Given the description of an element on the screen output the (x, y) to click on. 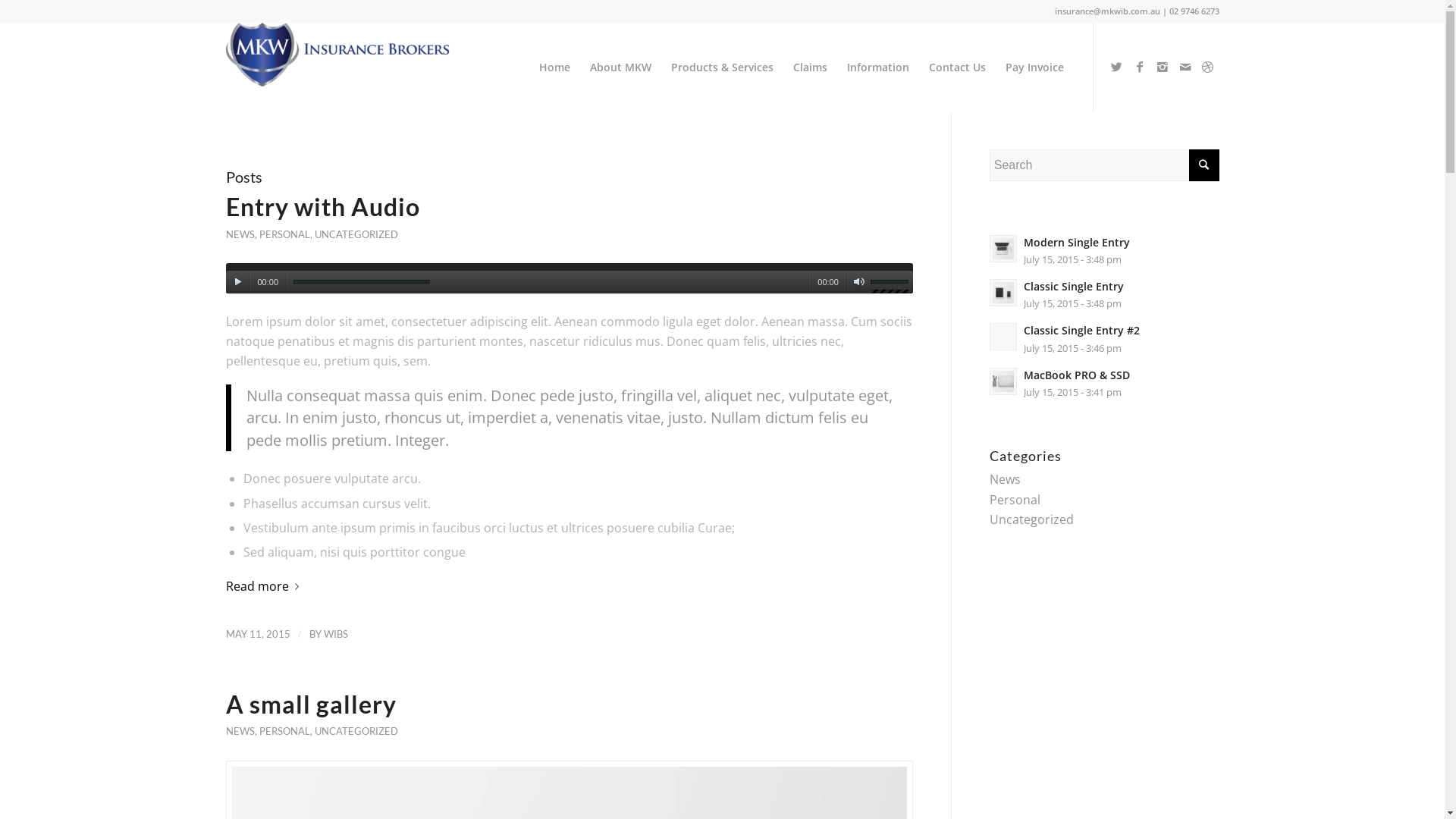
A small gallery Element type: text (310, 703)
Uncategorized Element type: text (1031, 519)
Information Element type: text (878, 67)
NEWS Element type: text (239, 234)
About MKW Element type: text (619, 67)
Instagram Element type: hover (1162, 66)
NEWS Element type: text (239, 730)
Facebook Element type: hover (1139, 66)
Entry with Audio Element type: text (322, 206)
Claims Element type: text (809, 67)
PERSONAL Element type: text (284, 234)
UNCATEGORIZED Element type: text (355, 234)
Classic Single Entry
July 15, 2015 - 3:48 pm Element type: text (1104, 294)
Products & Services Element type: text (722, 67)
Mute Element type: hover (858, 282)
Play Element type: hover (237, 282)
Mail Element type: hover (1184, 66)
Personal Element type: text (1014, 499)
MacBook PRO & SSD
July 15, 2015 - 3:41 pm Element type: text (1104, 382)
WIBS Element type: text (335, 633)
PERSONAL Element type: text (284, 730)
Classic Single Entry #2
July 15, 2015 - 3:46 pm Element type: text (1104, 338)
Dribbble Element type: hover (1207, 66)
Modern Single Entry
July 15, 2015 - 3:48 pm Element type: text (1104, 250)
Contact Us Element type: text (957, 67)
Pay Invoice Element type: text (1033, 67)
Read more Element type: text (264, 586)
Twitter Element type: hover (1116, 66)
UNCATEGORIZED Element type: text (355, 730)
Home Element type: text (554, 67)
News Element type: text (1004, 478)
